Given the description of an element on the screen output the (x, y) to click on. 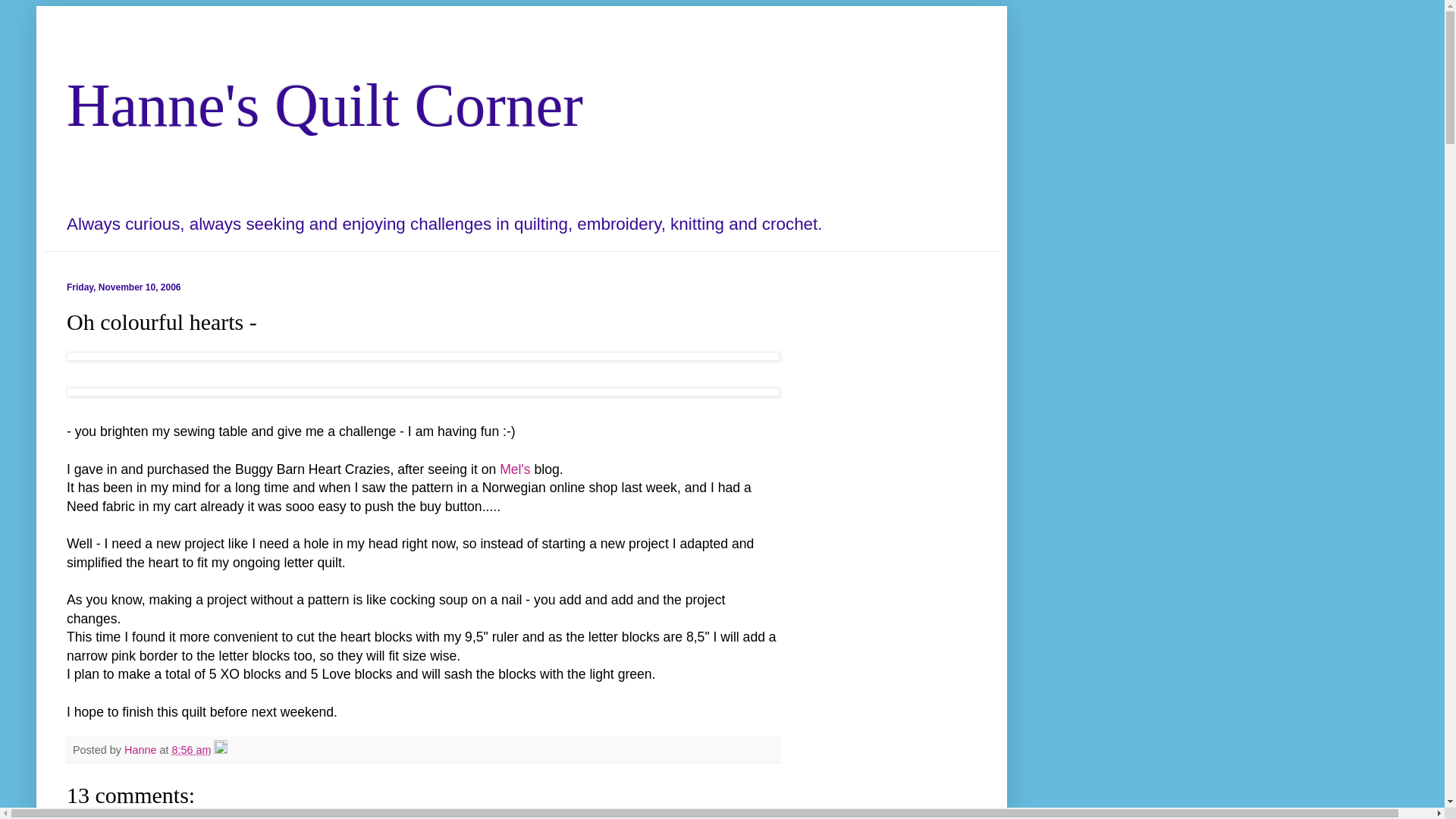
Edit Post (220, 749)
8:56 am (191, 749)
permanent link (191, 749)
Hanne's Quilt Corner (324, 105)
Mel's (515, 468)
author profile (140, 749)
Hanne (140, 749)
